Given the description of an element on the screen output the (x, y) to click on. 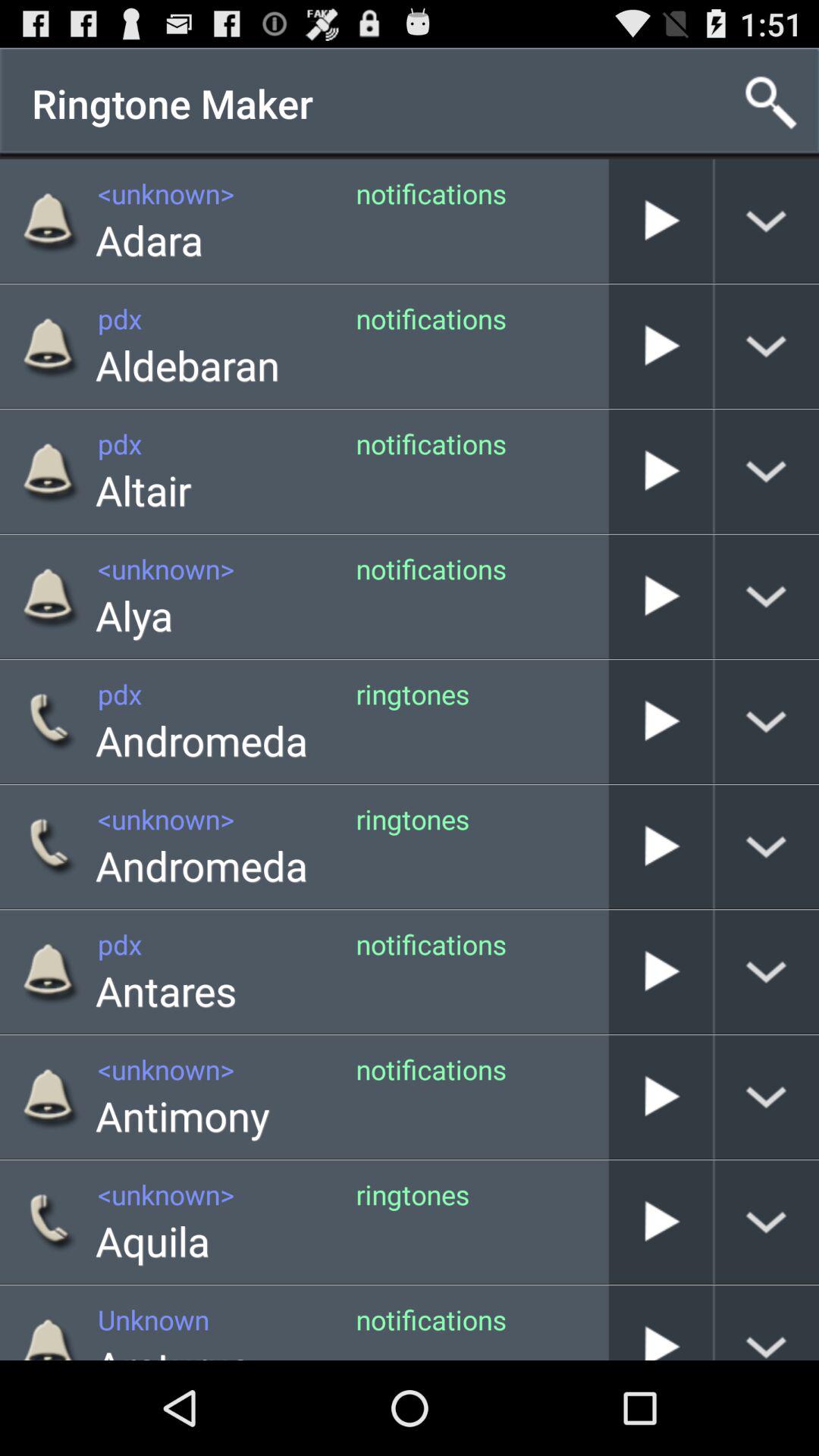
play (660, 846)
